Given the description of an element on the screen output the (x, y) to click on. 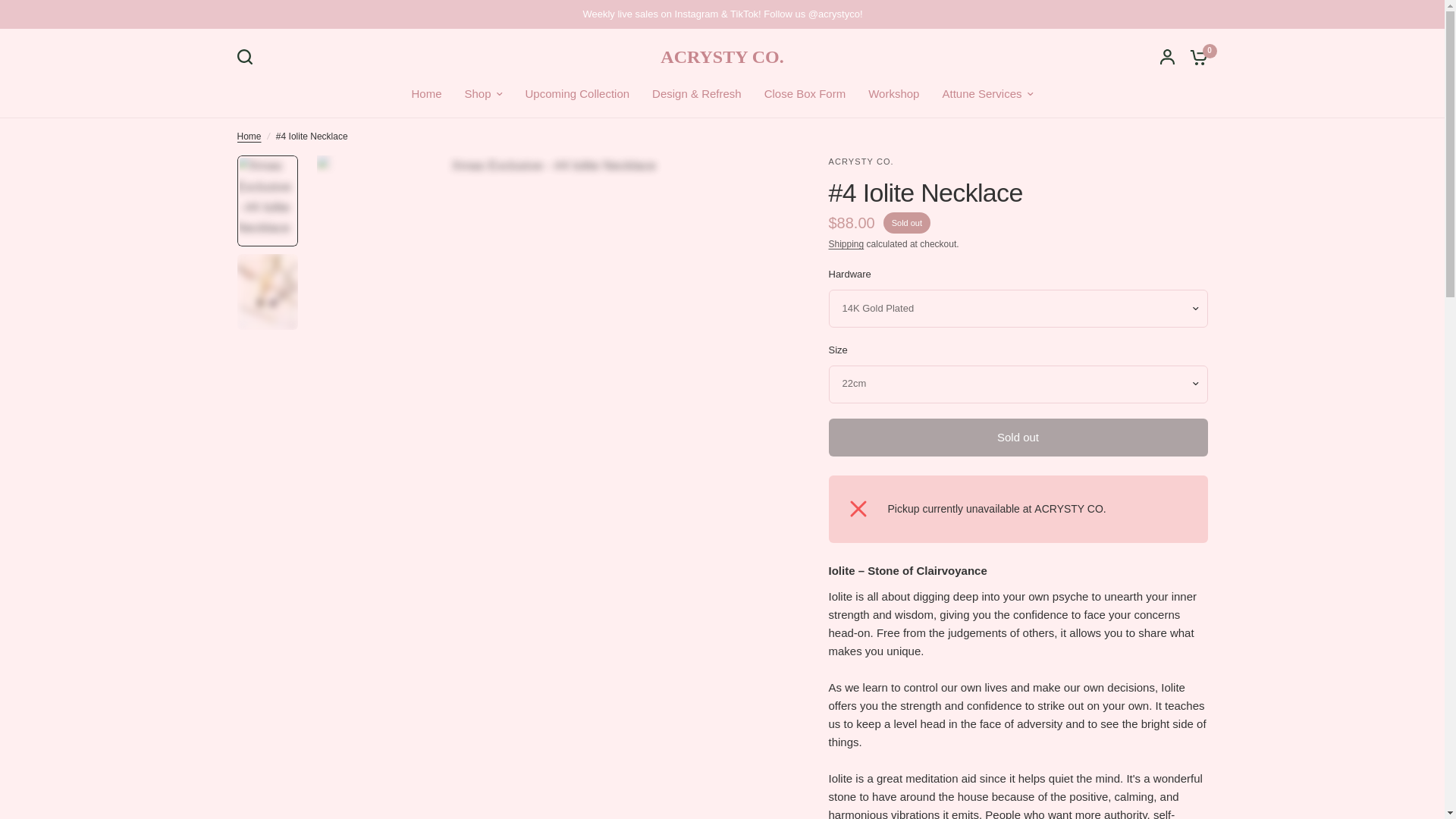
ACRYSTY CO. (722, 56)
Home (425, 94)
